Given the description of an element on the screen output the (x, y) to click on. 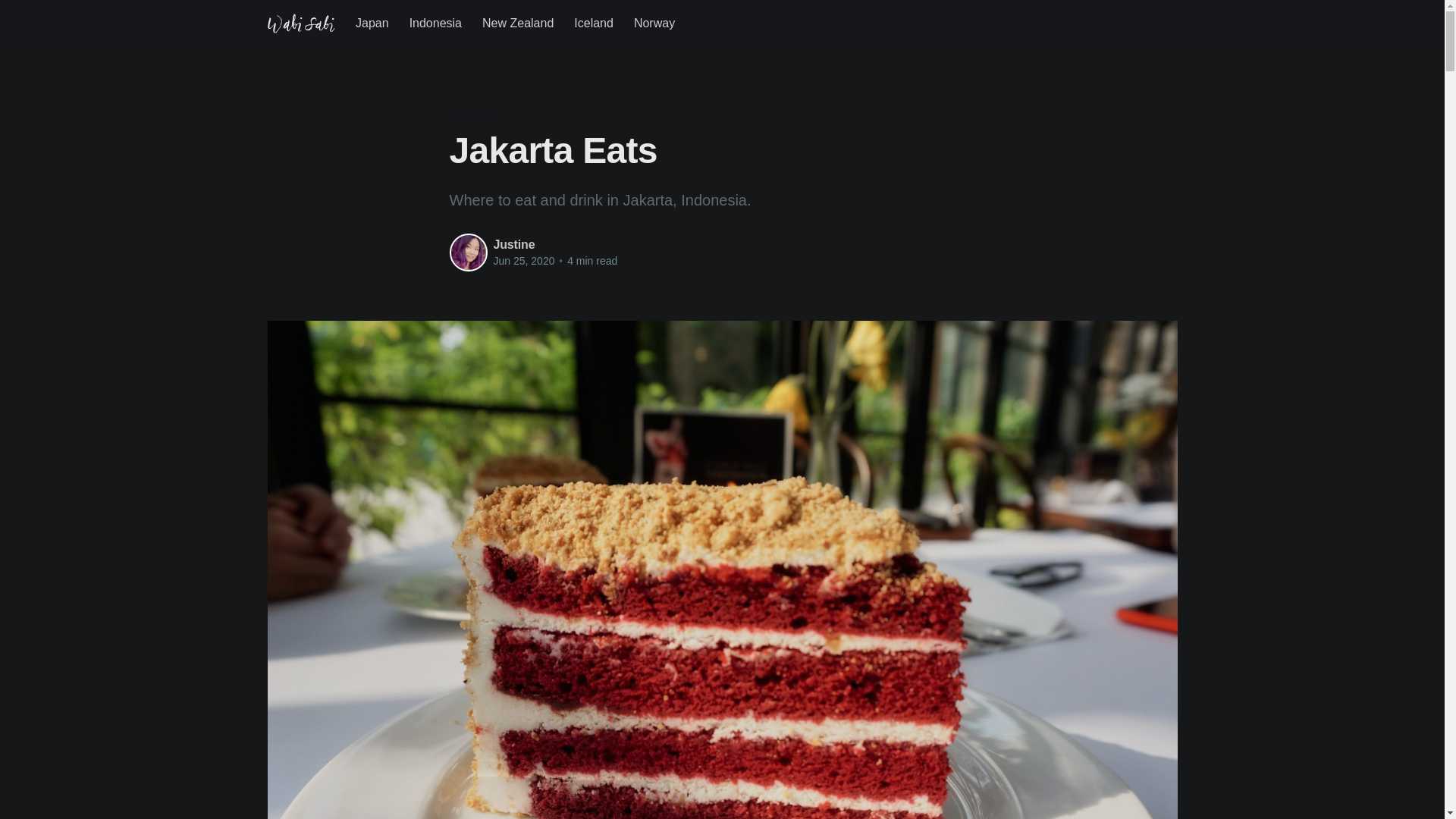
JAKARTA (472, 119)
Japan (371, 22)
Norway (654, 22)
Iceland (592, 22)
Indonesia (435, 22)
Justine (513, 244)
New Zealand (517, 22)
